Given the description of an element on the screen output the (x, y) to click on. 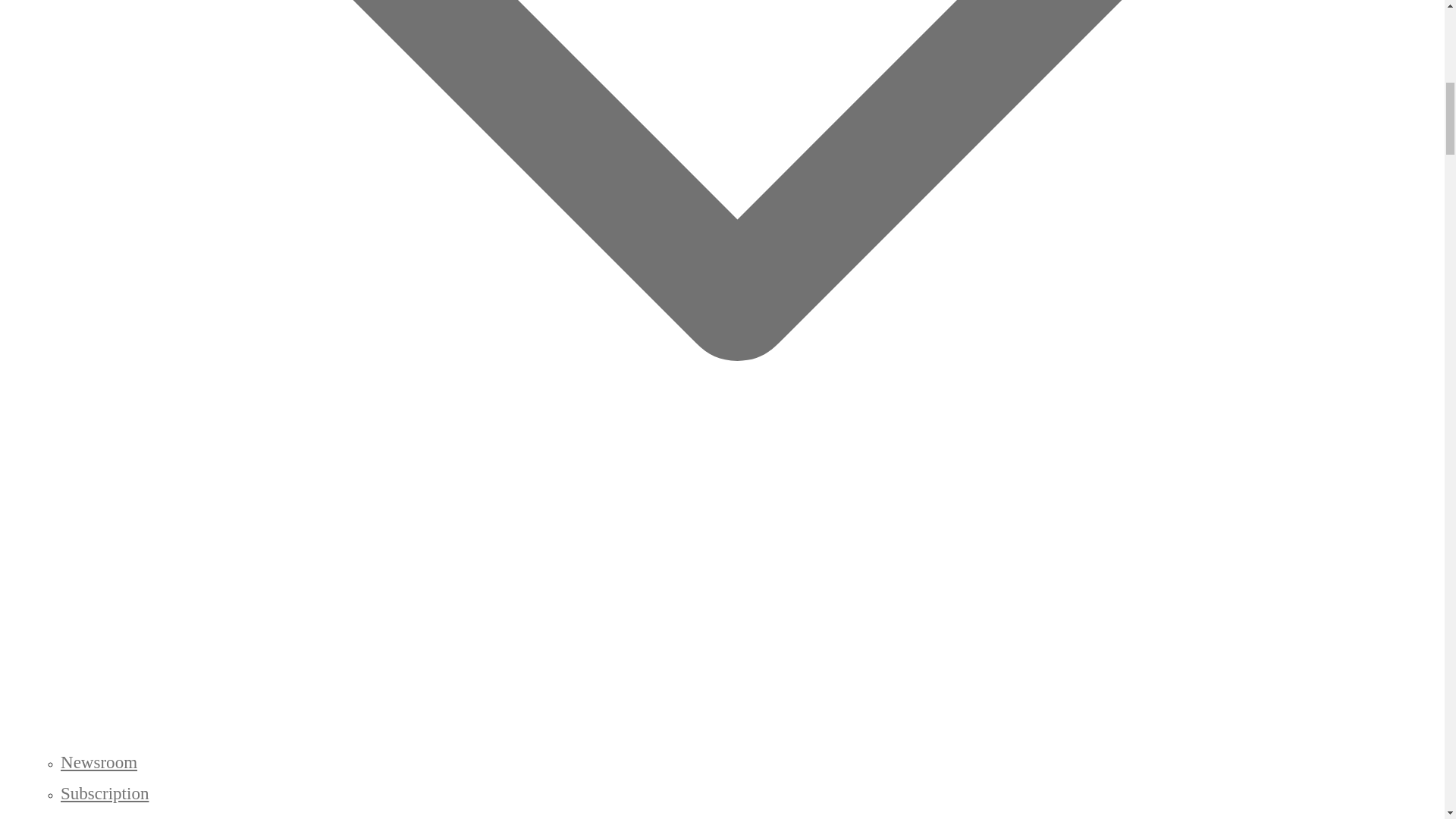
Newsroom (98, 762)
Subscription (104, 792)
